Given the description of an element on the screen output the (x, y) to click on. 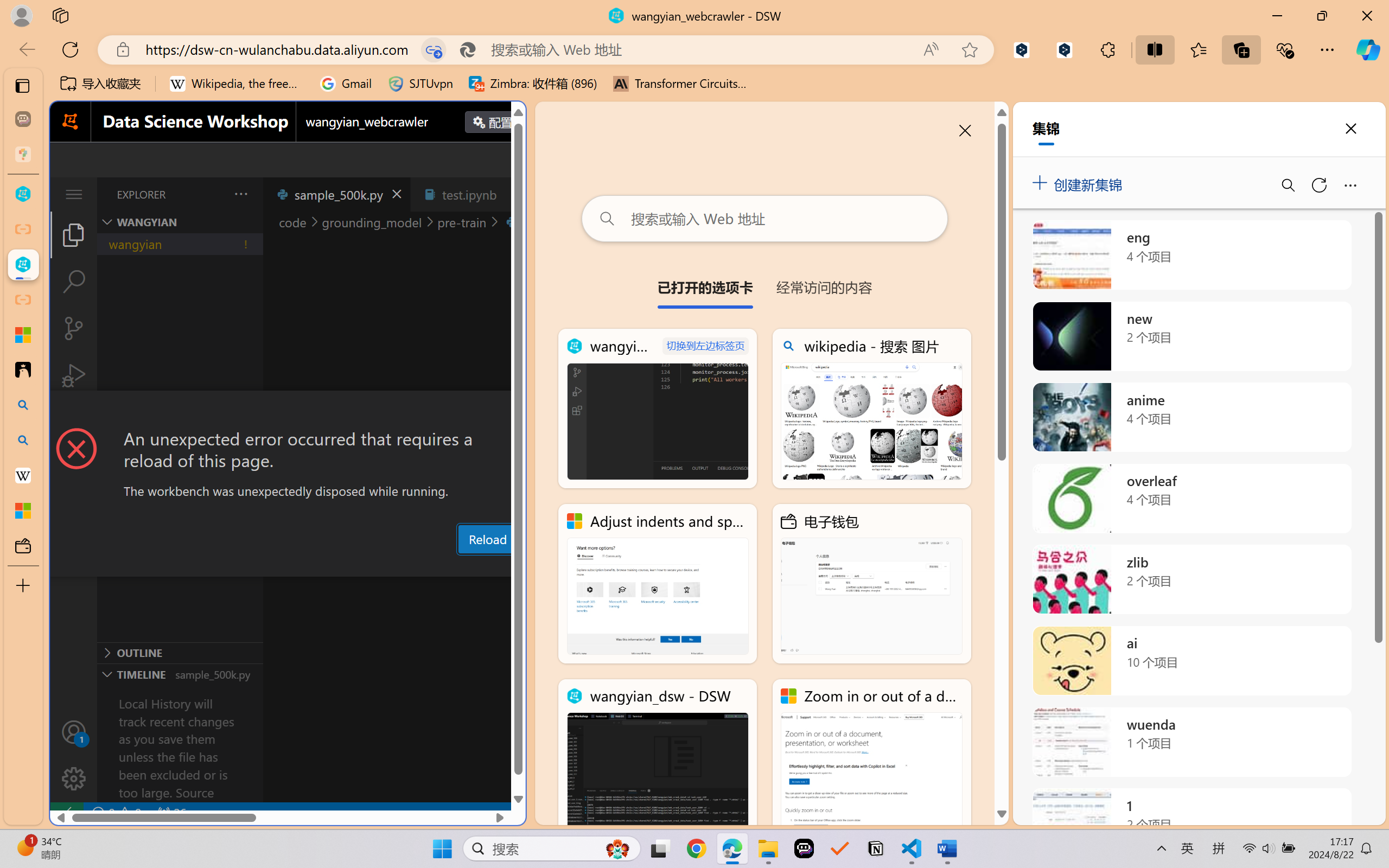
Terminal (Ctrl+`) (553, 565)
Earth - Wikipedia (22, 475)
Problems (Ctrl+Shift+M) (308, 565)
